Given the description of an element on the screen output the (x, y) to click on. 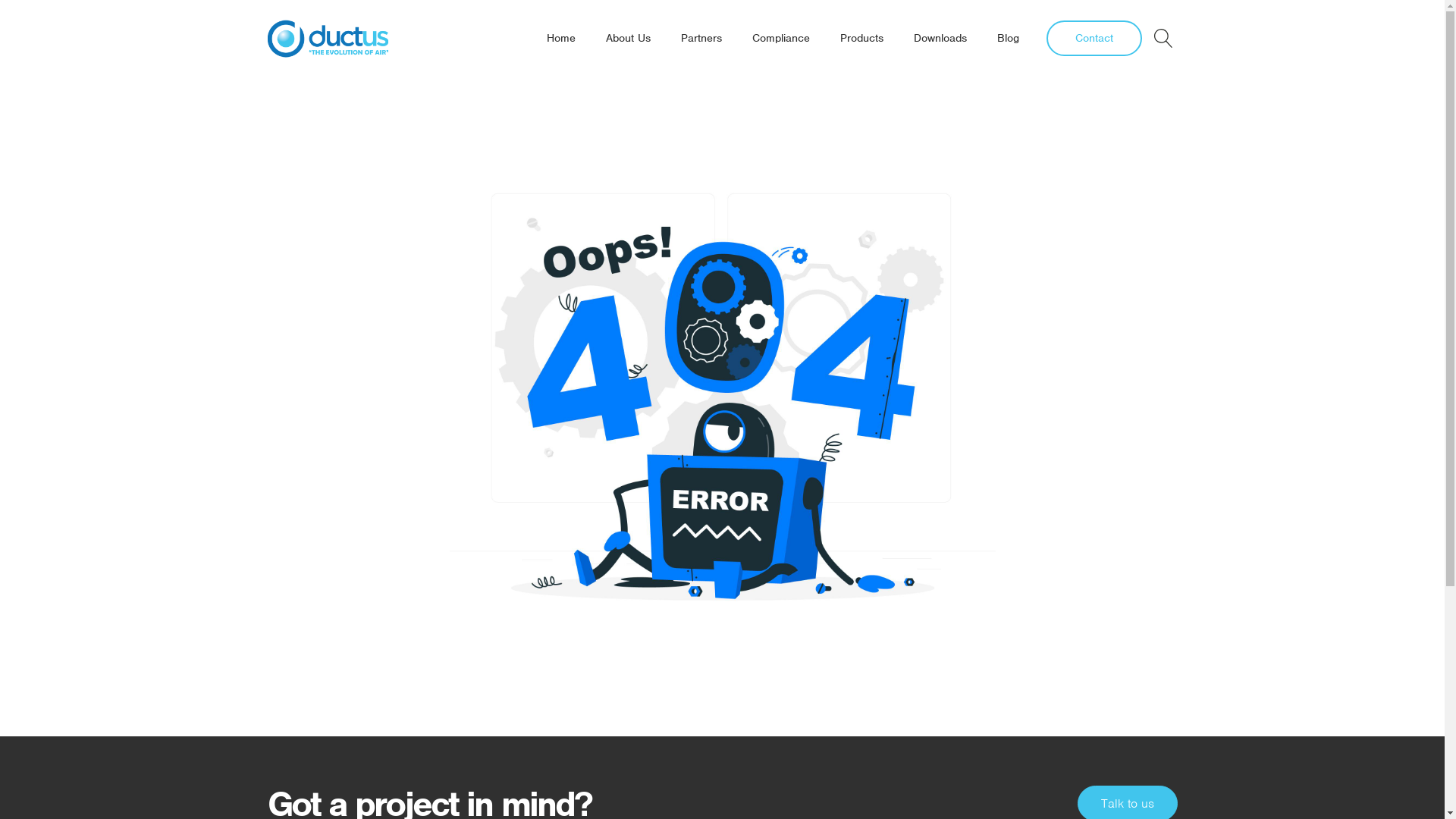
Partners Element type: text (701, 38)
Downloads Element type: text (939, 38)
Home Element type: text (559, 38)
Compliance Element type: text (781, 38)
Contact Element type: text (1094, 38)
Blog Element type: text (1007, 38)
Search Element type: text (26, 9)
About Us Element type: text (627, 38)
Products Element type: text (861, 38)
